Given the description of an element on the screen output the (x, y) to click on. 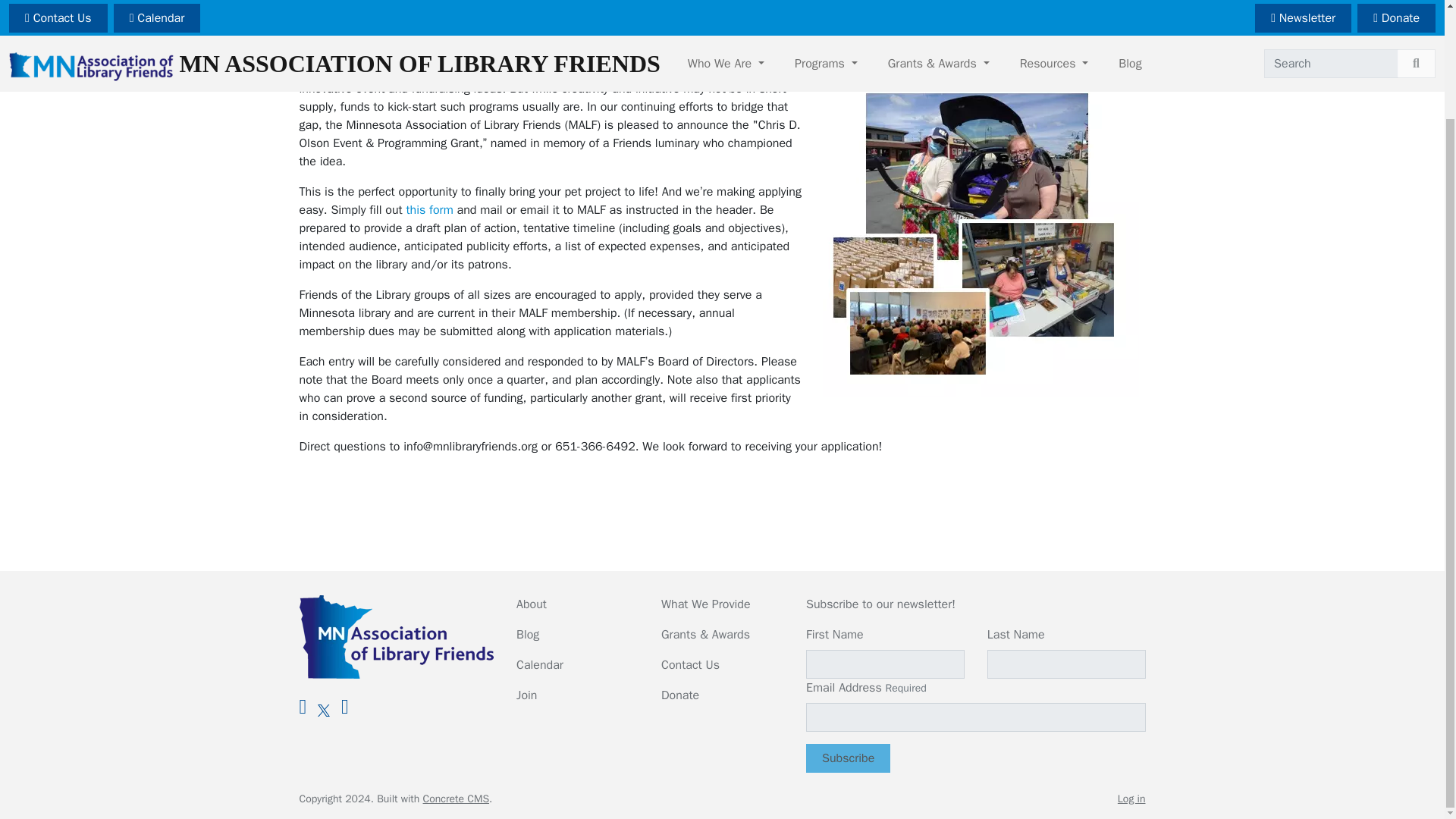
Join (526, 694)
Subscribe (847, 758)
Youtube (344, 706)
this form (429, 209)
Facebook (301, 706)
Calendar (539, 664)
Blog (527, 634)
Concrete CMS (456, 798)
About (531, 604)
What We Provide (706, 604)
